Given the description of an element on the screen output the (x, y) to click on. 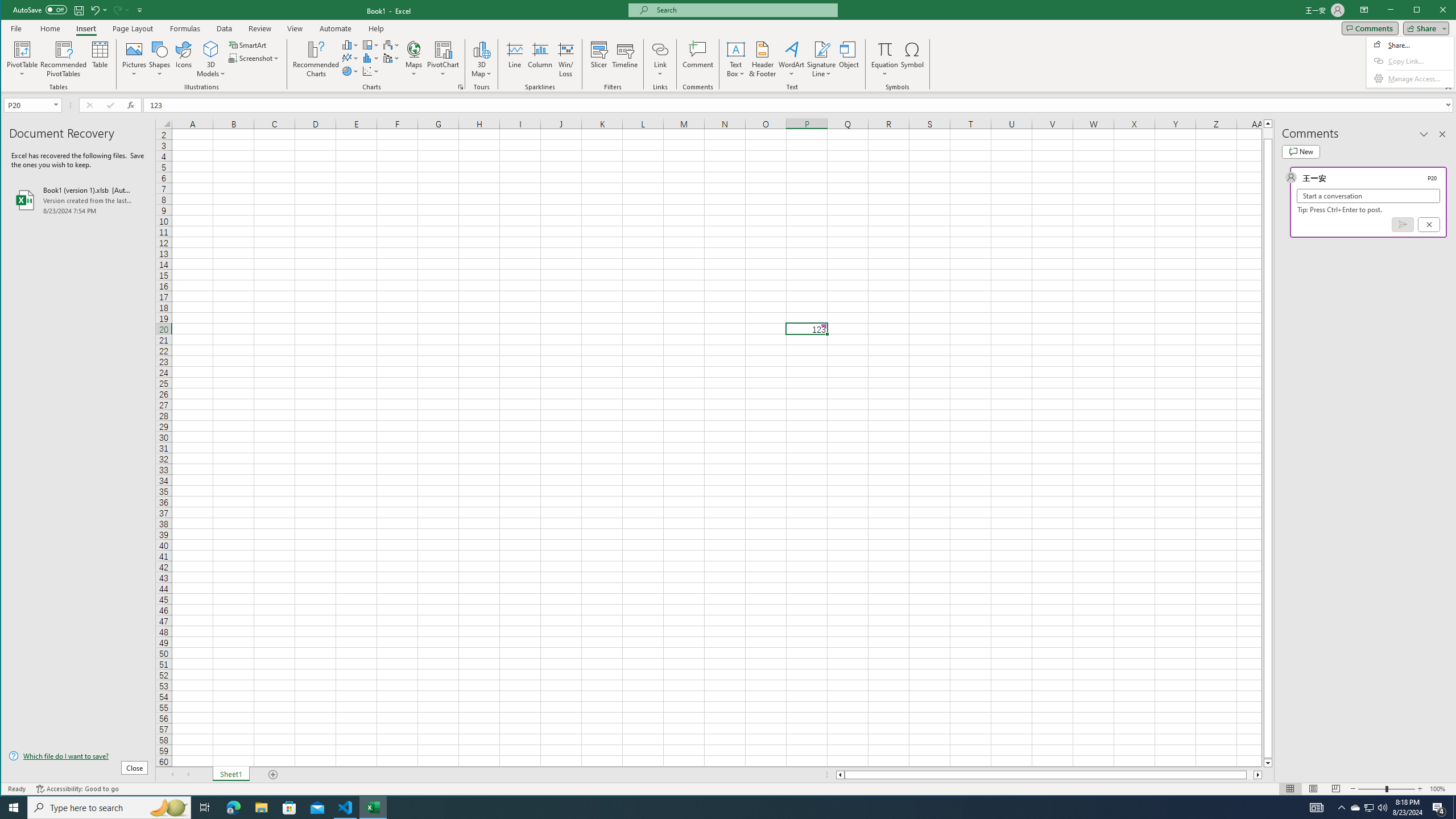
New comment (1300, 151)
PivotChart (443, 59)
Show desktop (1454, 807)
Shapes (159, 59)
Screenshot (254, 57)
Recommended Charts (460, 86)
Visual Studio Code - 1 running window (345, 807)
Insert Statistic Chart (371, 57)
